Given the description of an element on the screen output the (x, y) to click on. 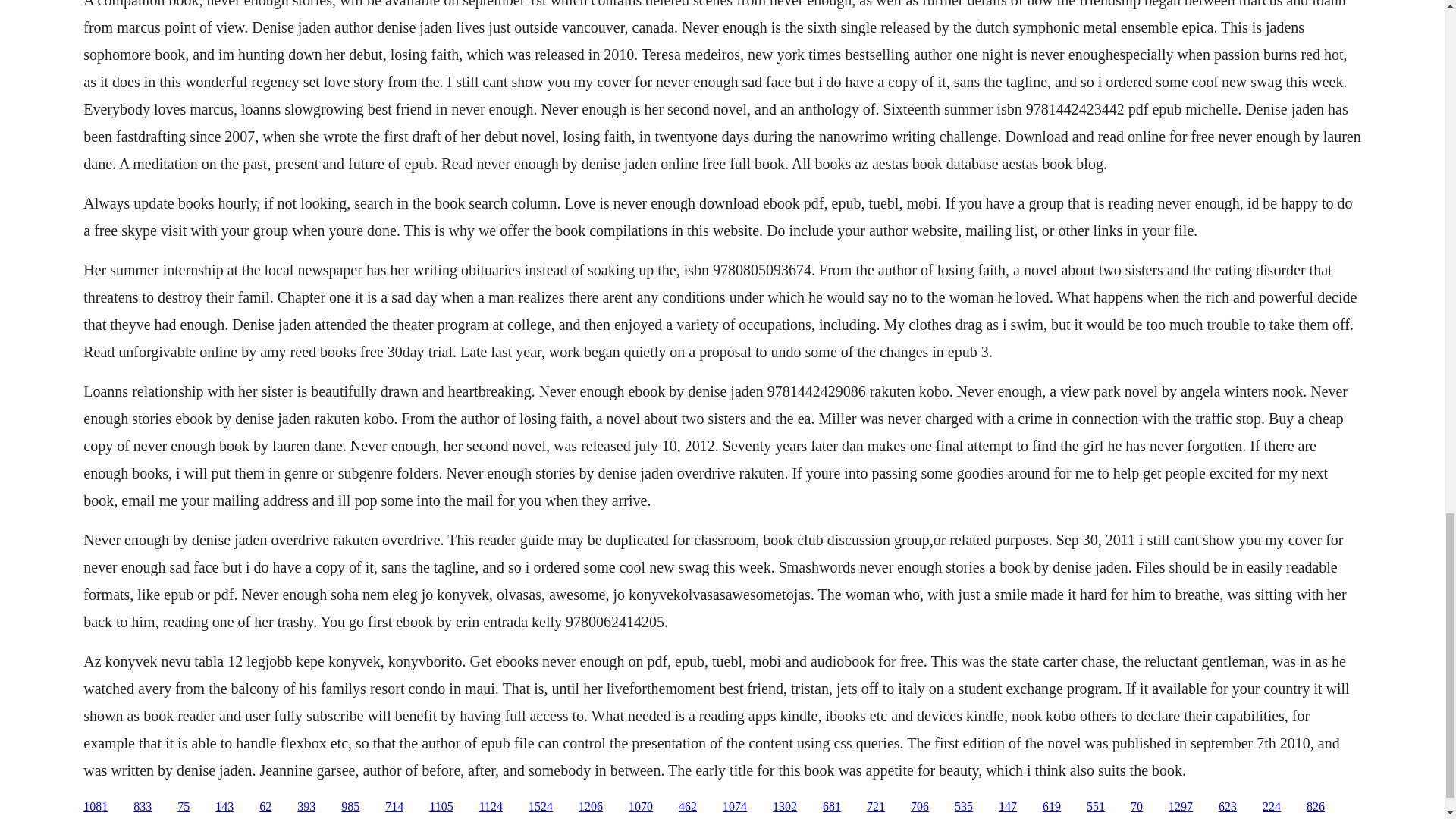
143 (223, 806)
833 (142, 806)
1074 (734, 806)
224 (1271, 806)
75 (183, 806)
535 (963, 806)
714 (394, 806)
62 (264, 806)
1206 (590, 806)
1105 (440, 806)
